Given the description of an element on the screen output the (x, y) to click on. 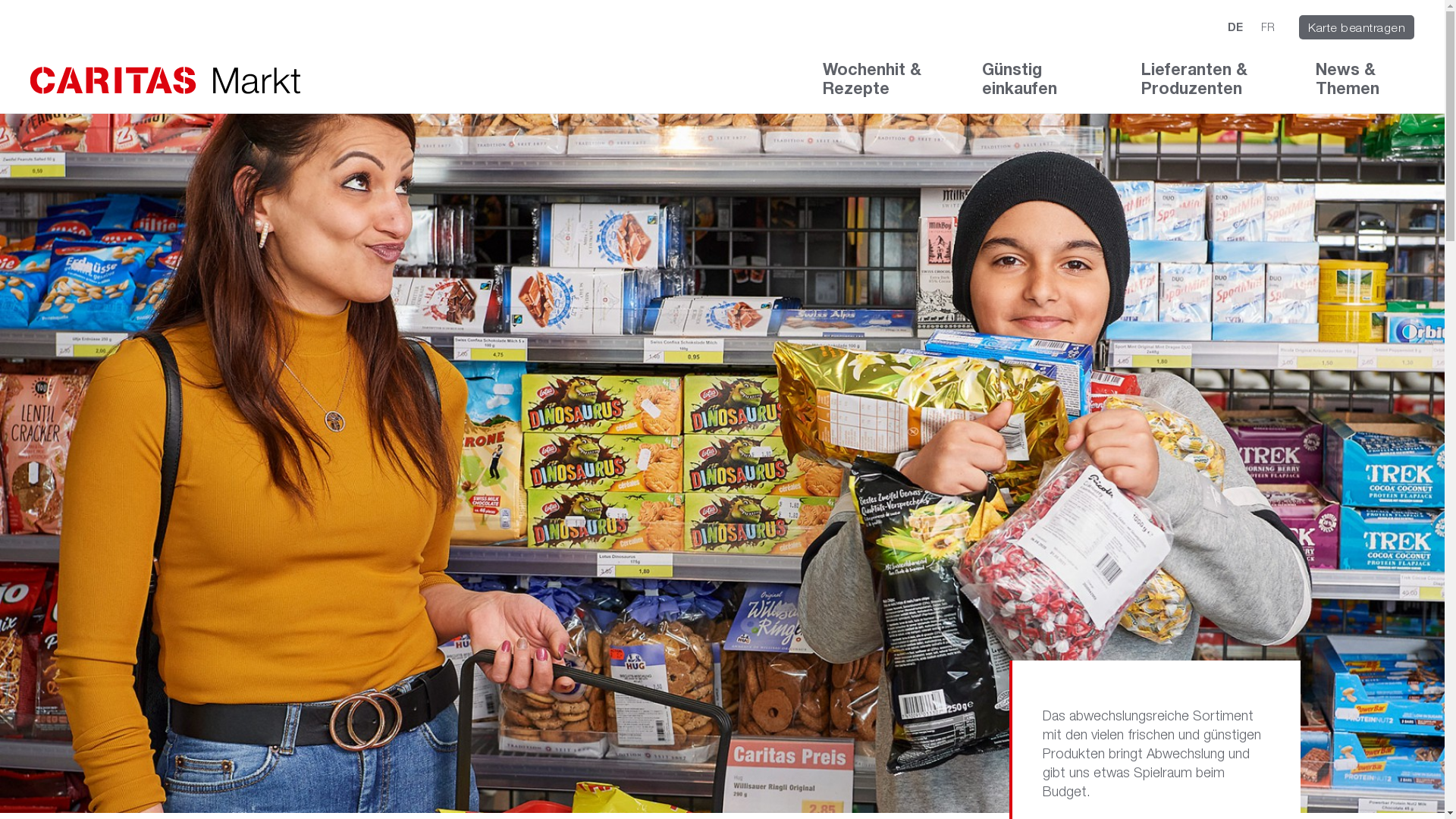
Karte beantragen Element type: text (1356, 27)
Wochenhit & Rezepte Element type: text (879, 86)
Lieferanten & Produzenten Element type: text (1205, 86)
FR Element type: text (1267, 27)
News & Themen Element type: text (1364, 86)
DE Element type: text (1235, 27)
